Given the description of an element on the screen output the (x, y) to click on. 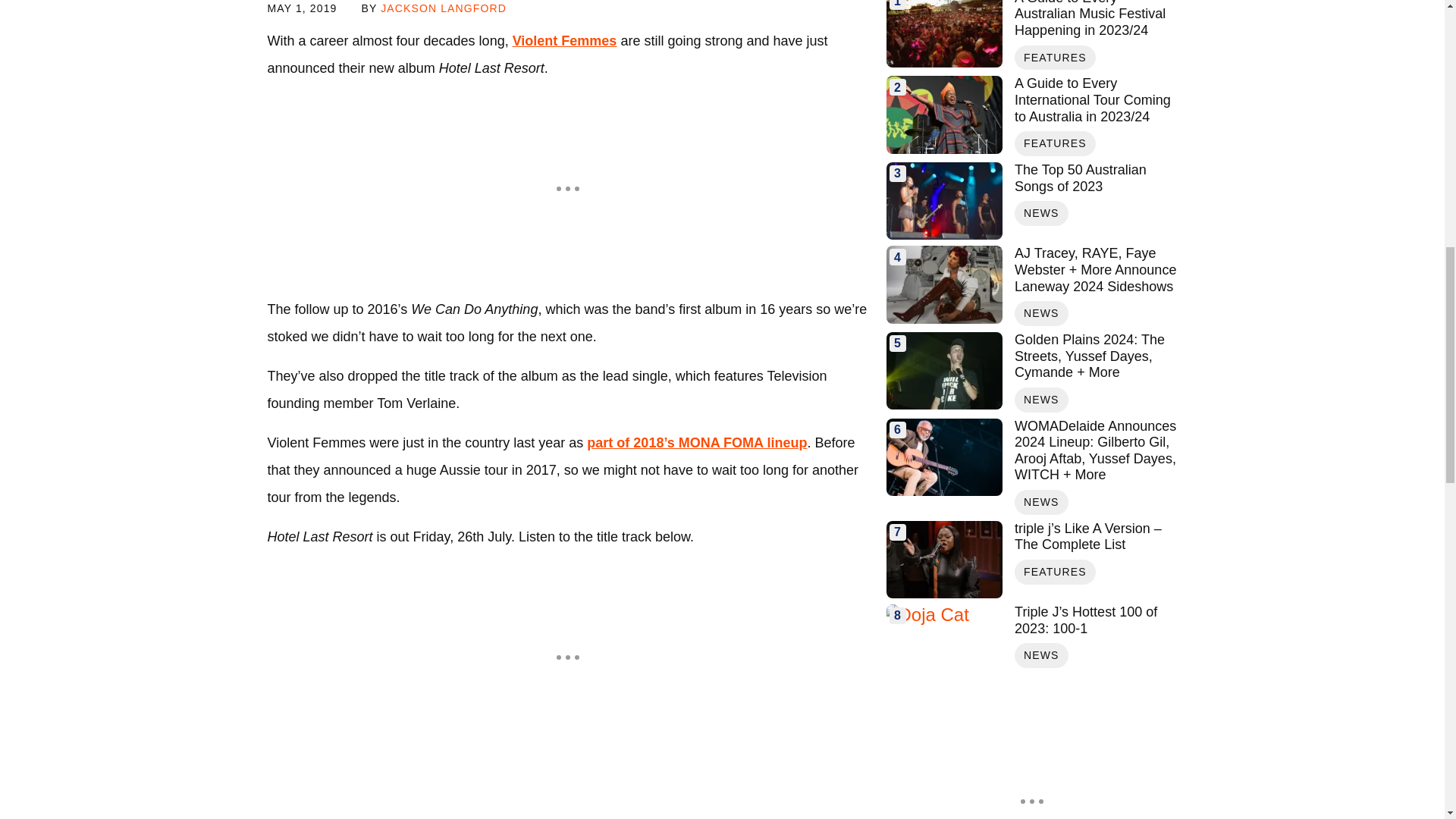
Violent Femmes (564, 40)
The Top 50 Australian Songs of 2023 (1095, 178)
JACKSON LANGFORD (443, 8)
1 (944, 33)
The Top 50 Australian Songs of 2023 (944, 200)
